Given the description of an element on the screen output the (x, y) to click on. 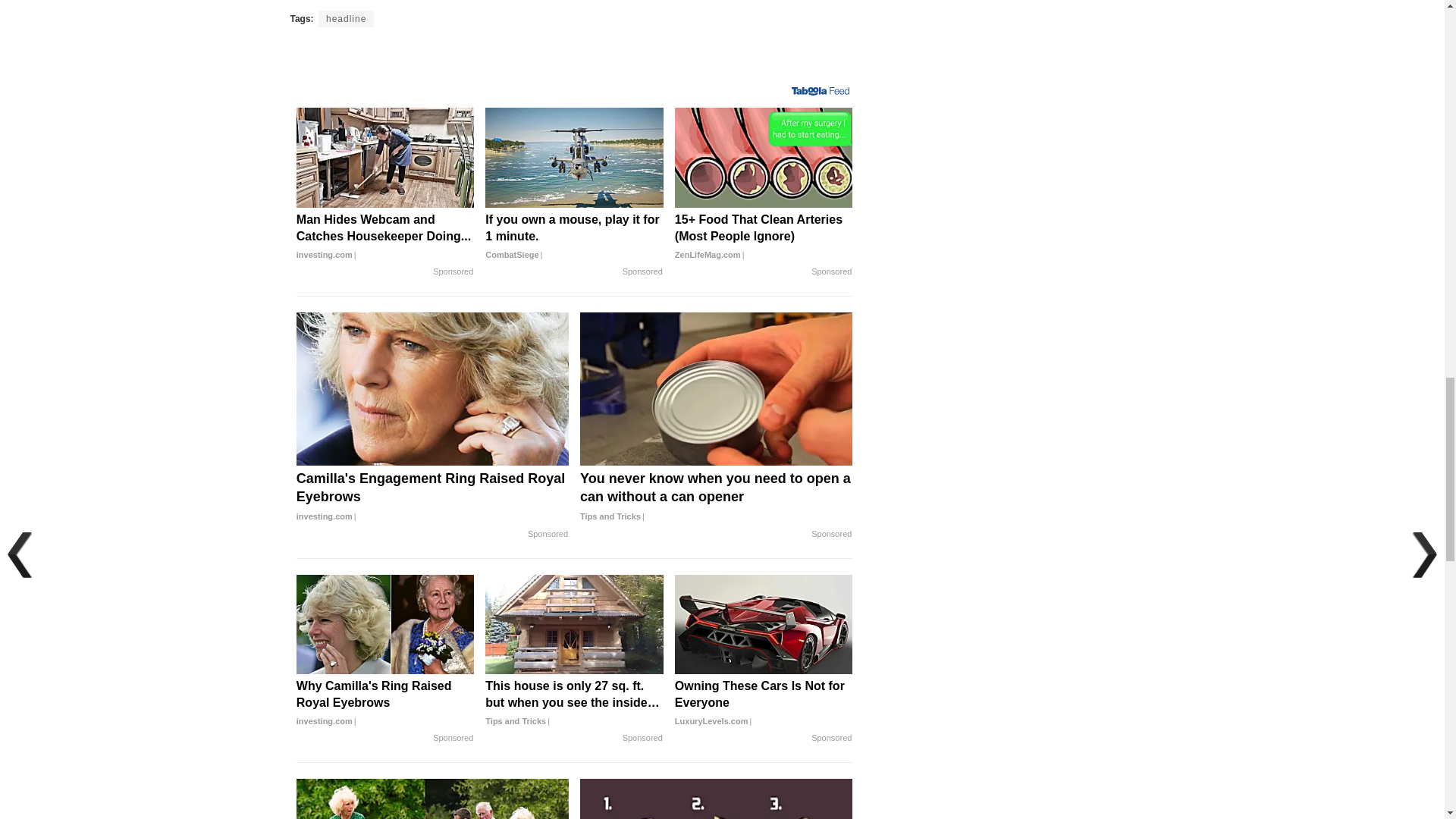
Man Hides Webcam and Catches Housekeeper Doing... (385, 236)
If you own a mouse, play it for 1 minute. (573, 157)
Man Hides Webcam and Catches Housekeeper Doing... (385, 157)
If you own a mouse, play it for 1 minute. (573, 236)
